Given the description of an element on the screen output the (x, y) to click on. 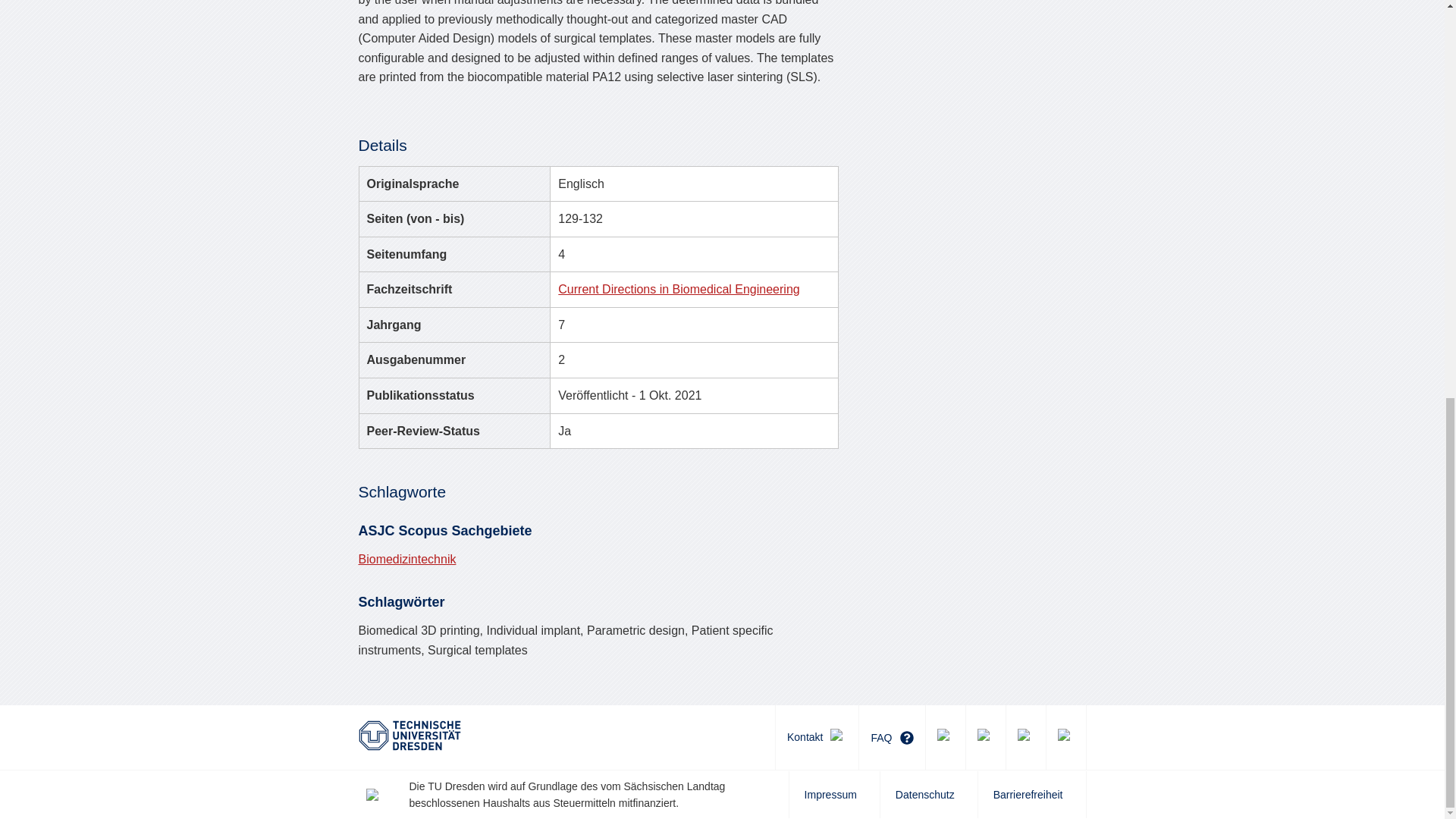
Datenschutz (927, 794)
Impressum (834, 794)
FAQ (891, 737)
Current Directions in Biomedical Engineering (678, 288)
Barrierefreiheit (1031, 794)
Kontakt (816, 737)
Biomedizintechnik (406, 558)
